Given the description of an element on the screen output the (x, y) to click on. 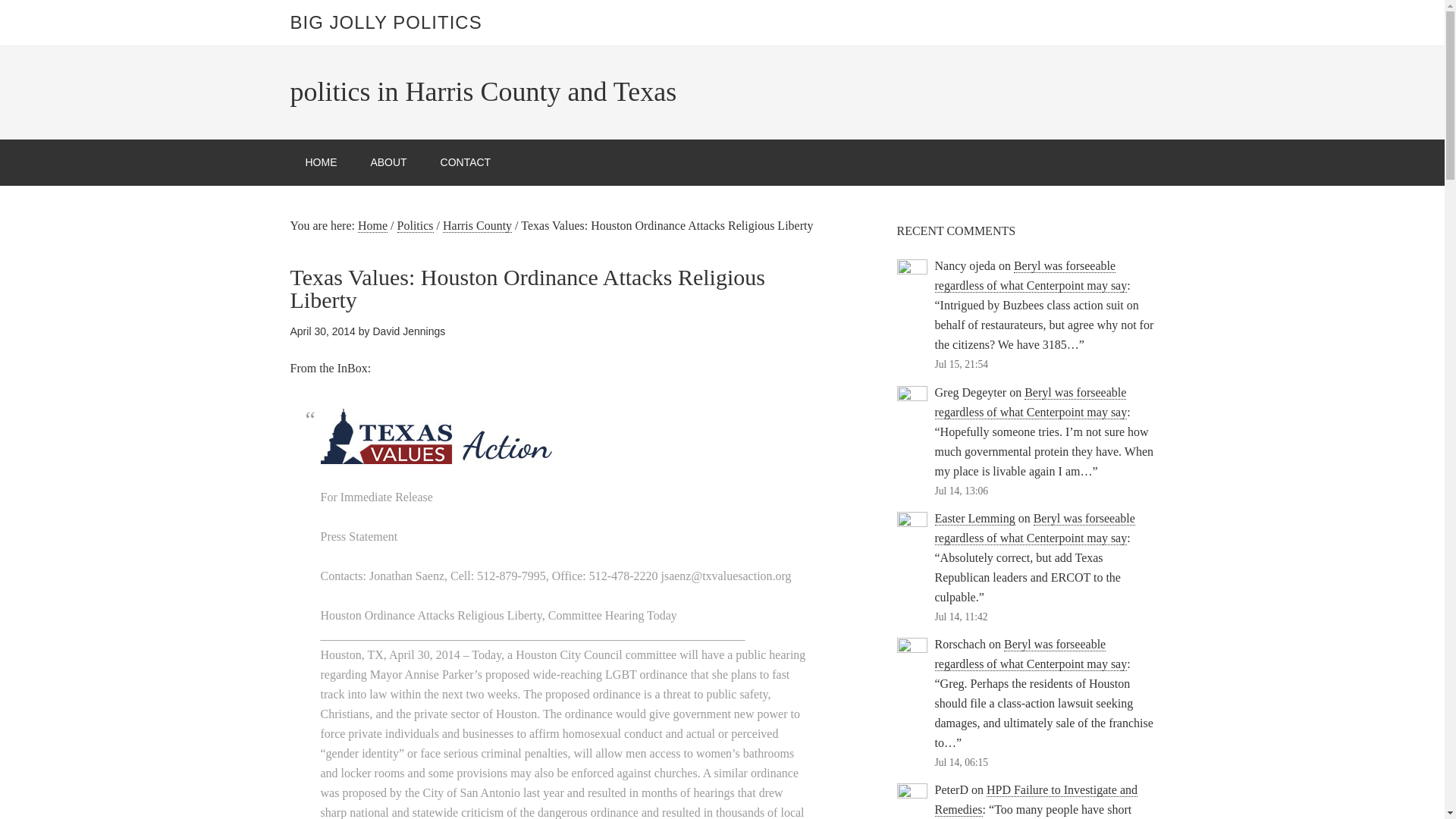
Home (372, 225)
Beryl was forseeable regardless of what Centerpoint may say (1030, 275)
Easter Lemming (974, 518)
HPD Failure to Investigate and Remedies (1035, 799)
HOME (320, 162)
Beryl was forseeable regardless of what Centerpoint may say (1034, 528)
ABOUT (388, 162)
Politics (415, 225)
Harris County (477, 225)
Beryl was forseeable regardless of what Centerpoint may say (1030, 654)
CONTACT (465, 162)
David Jennings (408, 331)
Beryl was forseeable regardless of what Centerpoint may say (1030, 402)
BIG JOLLY POLITICS (385, 22)
